Given the description of an element on the screen output the (x, y) to click on. 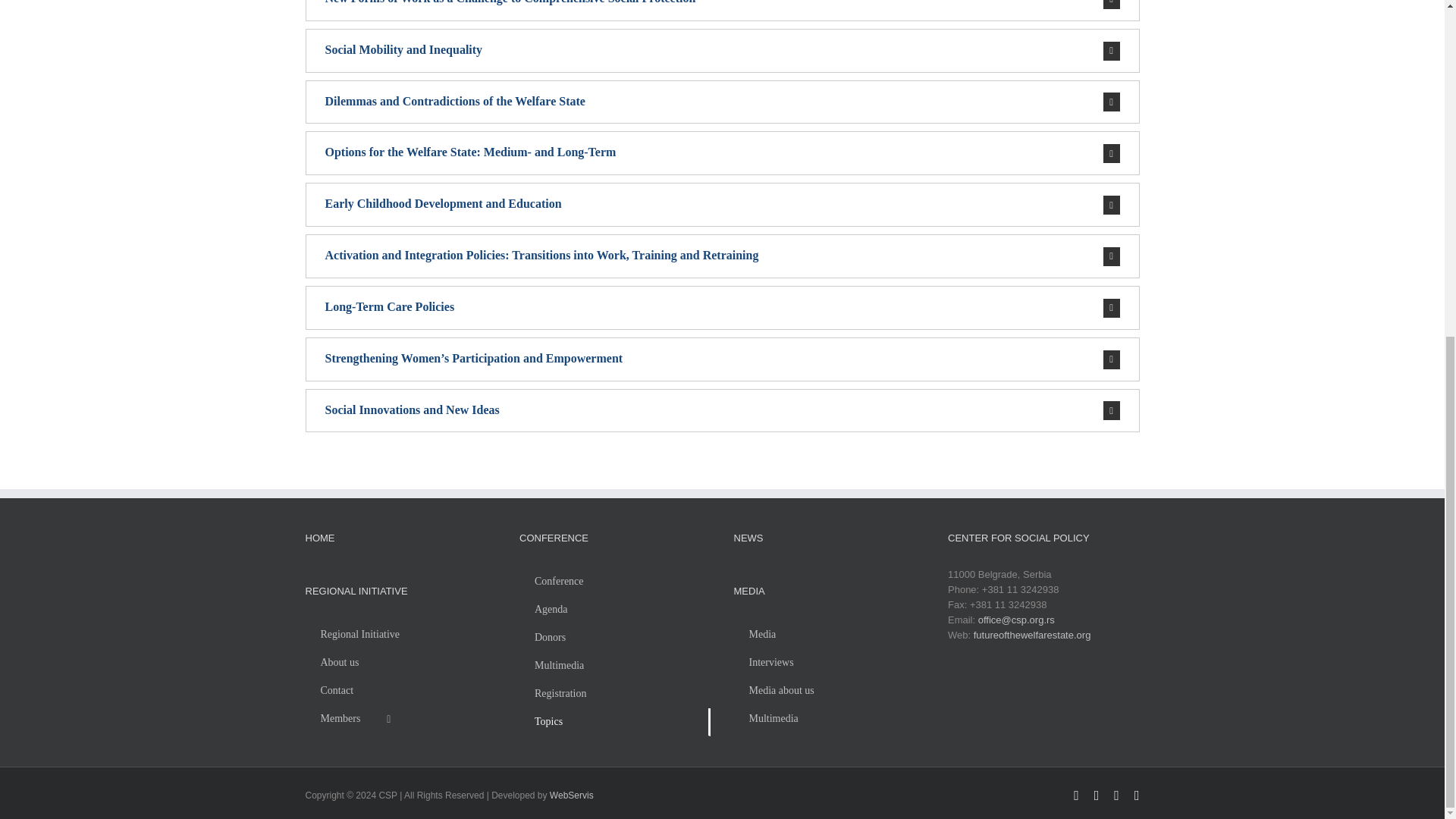
Back to Parent Page (614, 582)
Back to Parent Page (400, 634)
Back to Parent Page (828, 634)
